Given the description of an element on the screen output the (x, y) to click on. 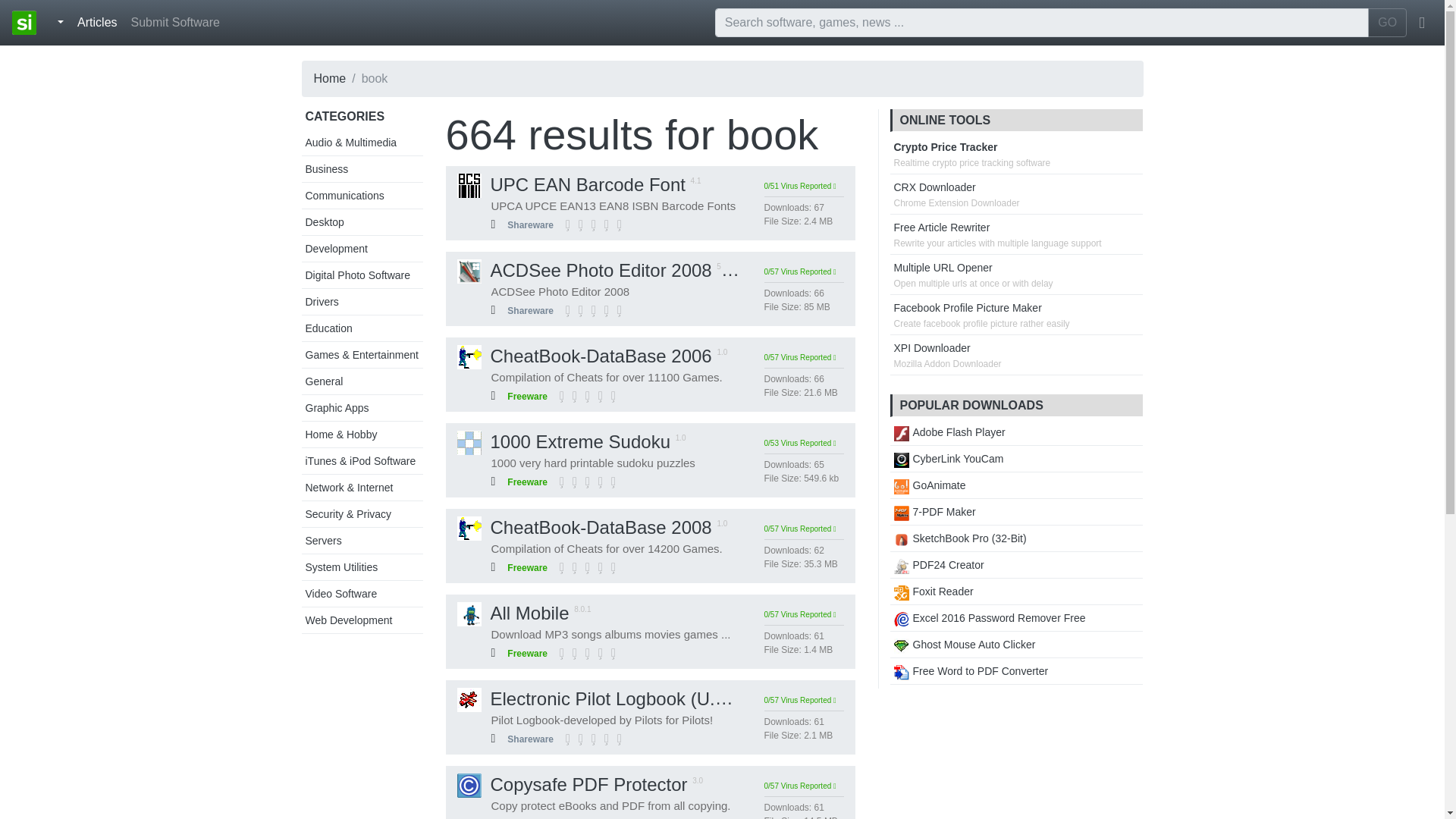
Web Development (347, 620)
book (772, 134)
Graphic Apps (336, 408)
Development (336, 248)
General (323, 381)
Drivers (320, 301)
Submit Software (175, 22)
Desktop (323, 222)
Digital Photo Software (357, 275)
UPC EAN Barcode Font (570, 184)
Home (330, 78)
Video Software (340, 593)
Business (325, 168)
Education (328, 328)
System Utilities (340, 567)
